Given the description of an element on the screen output the (x, y) to click on. 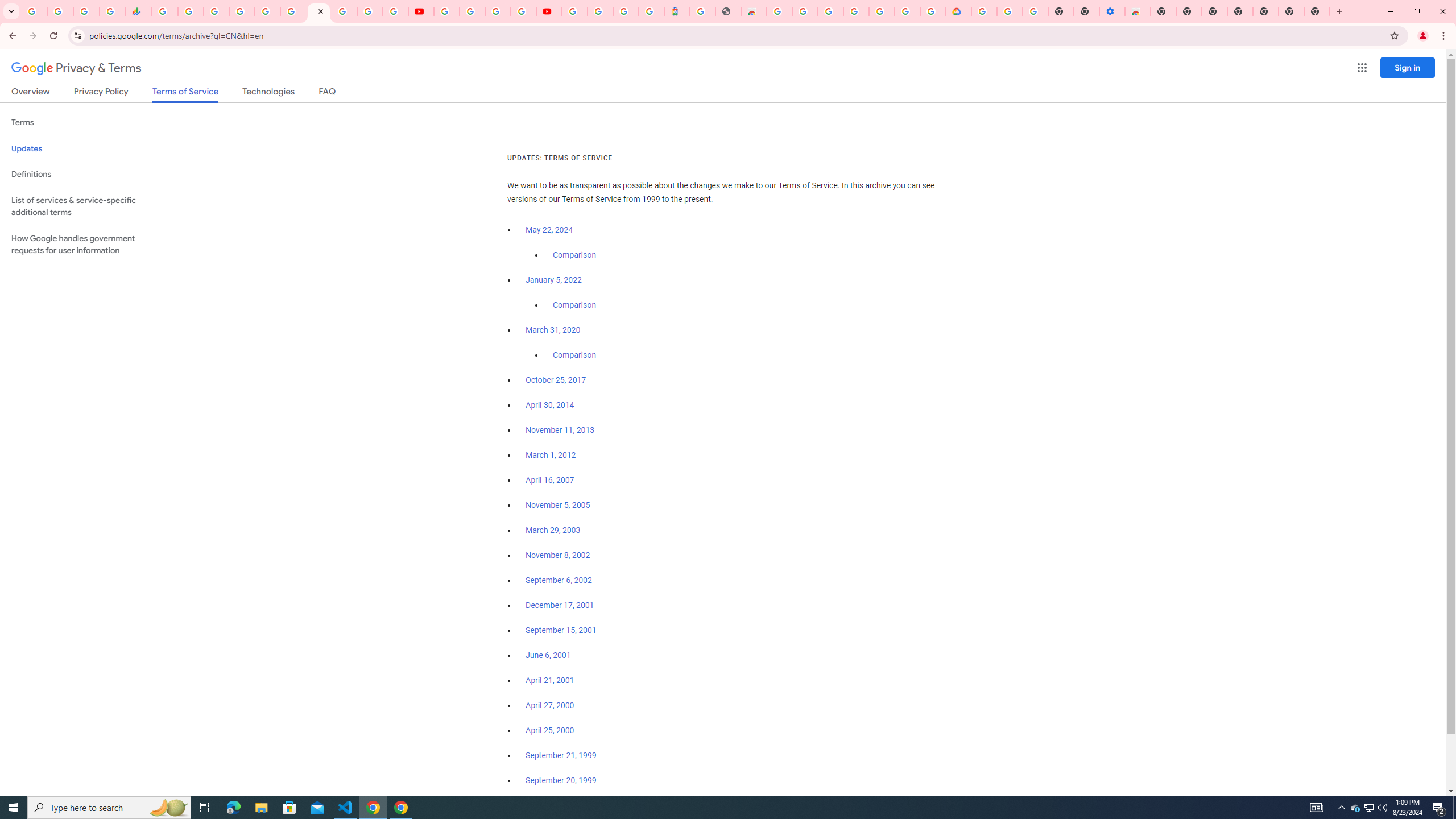
September 15, 2001 (560, 629)
Content Creator Programs & Opportunities - YouTube Creators (548, 11)
New Tab (1316, 11)
Chrome Web Store - Household (753, 11)
Google Account Help (1009, 11)
April 21, 2001 (550, 679)
Chrome Web Store - Accessibility extensions (1137, 11)
Sign in - Google Accounts (983, 11)
